Given the description of an element on the screen output the (x, y) to click on. 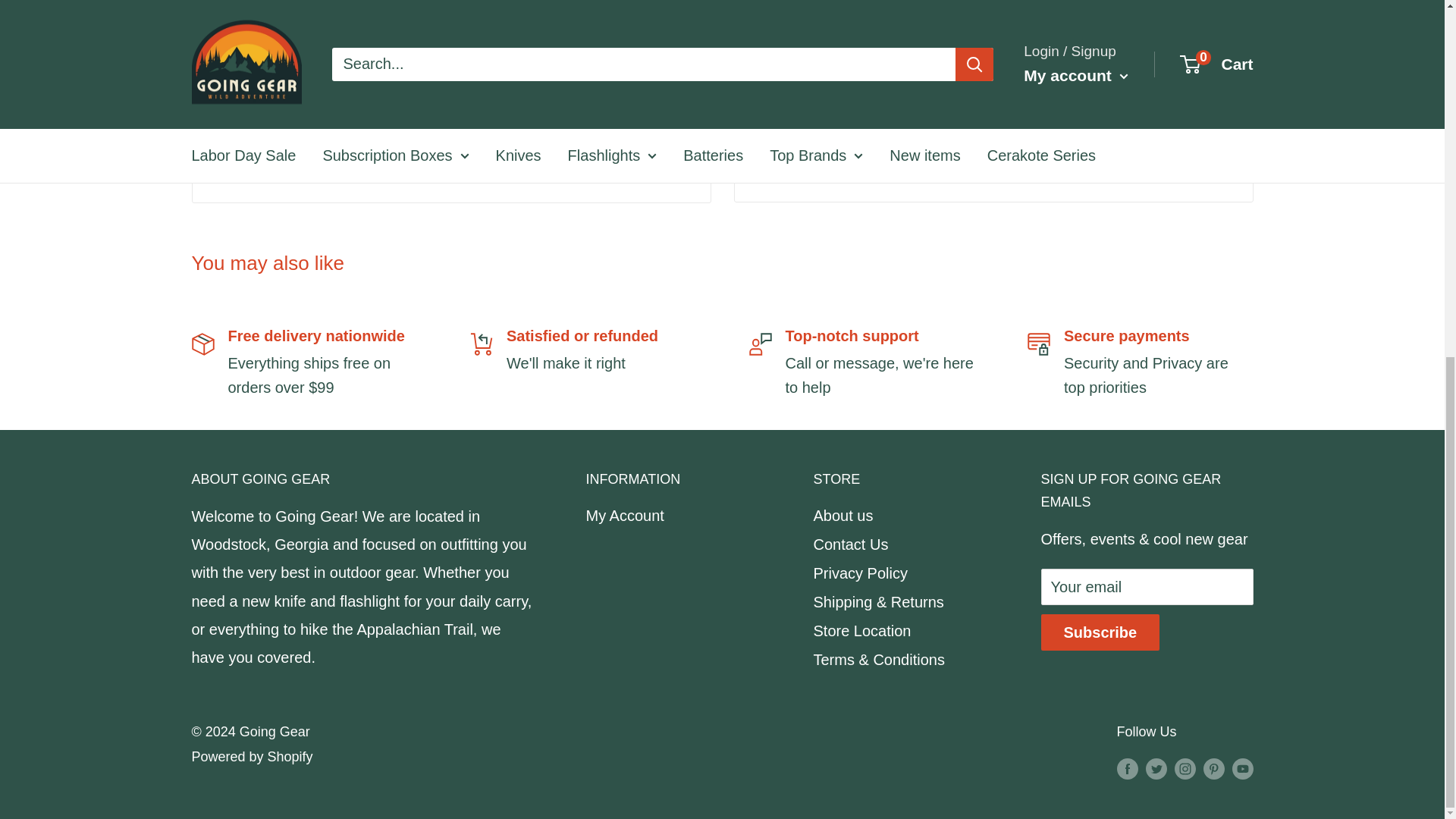
Increase quantity by 1 (929, 74)
1 (889, 74)
Decrease quantity by 1 (848, 74)
